Given the description of an element on the screen output the (x, y) to click on. 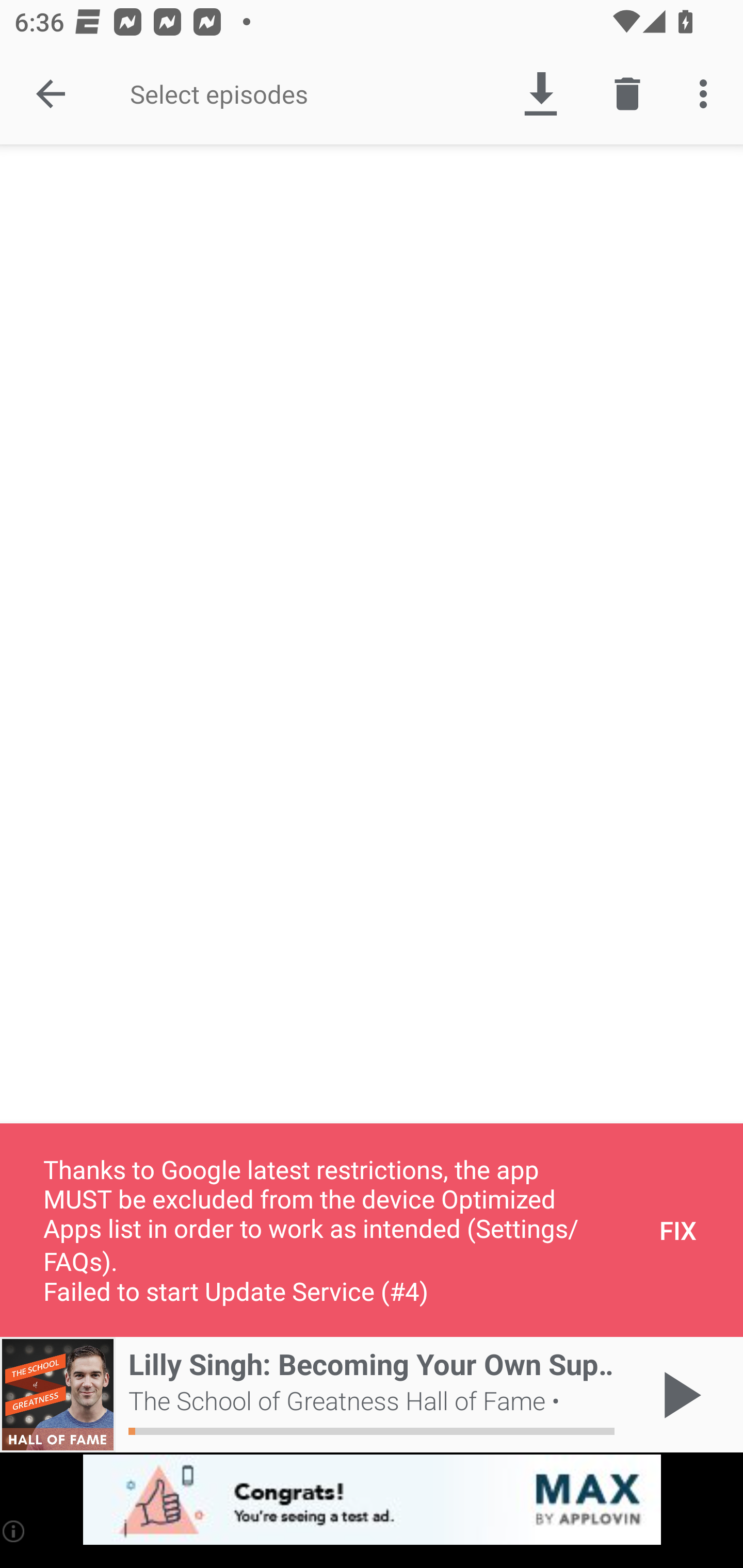
Done (50, 93)
Download (540, 93)
Delete episode (626, 93)
More options (706, 93)
FIX (677, 1229)
Play / Pause (677, 1394)
app-monetization (371, 1500)
(i) (14, 1531)
